Given the description of an element on the screen output the (x, y) to click on. 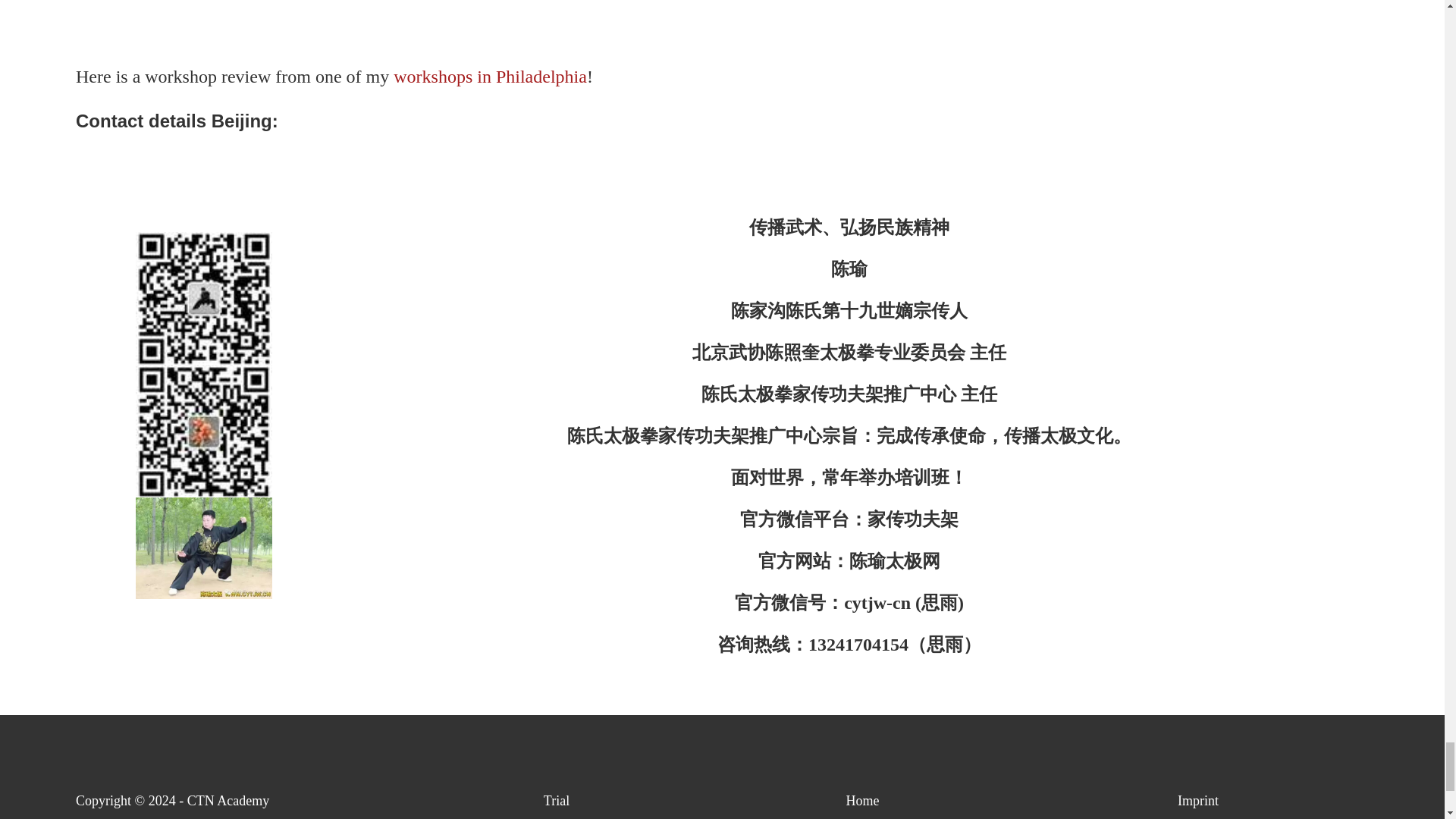
YouTube video player (721, 20)
Trial (556, 800)
Blog (556, 817)
workshops in Philadelphia (489, 76)
